Given the description of an element on the screen output the (x, y) to click on. 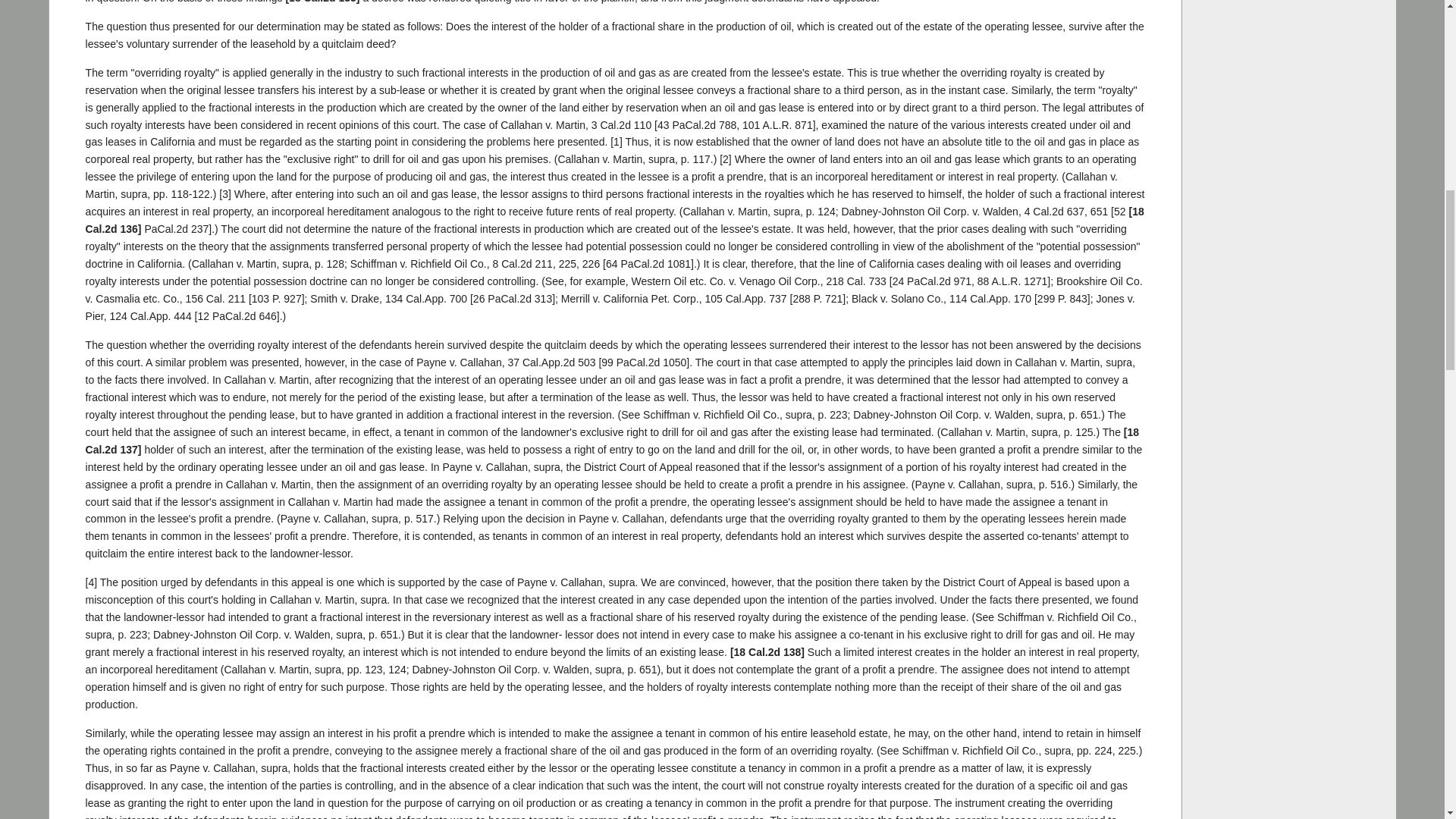
3 Cal.2d 110 (620, 123)
4 Cal.2d 637 (1054, 211)
8 Cal.2d 211 (523, 263)
Callahan v. Martin (620, 123)
Dabney-Johnston Oil Corp. v. Walden (1054, 211)
Schiffman v. Richfield Oil Co. (523, 263)
